Given the description of an element on the screen output the (x, y) to click on. 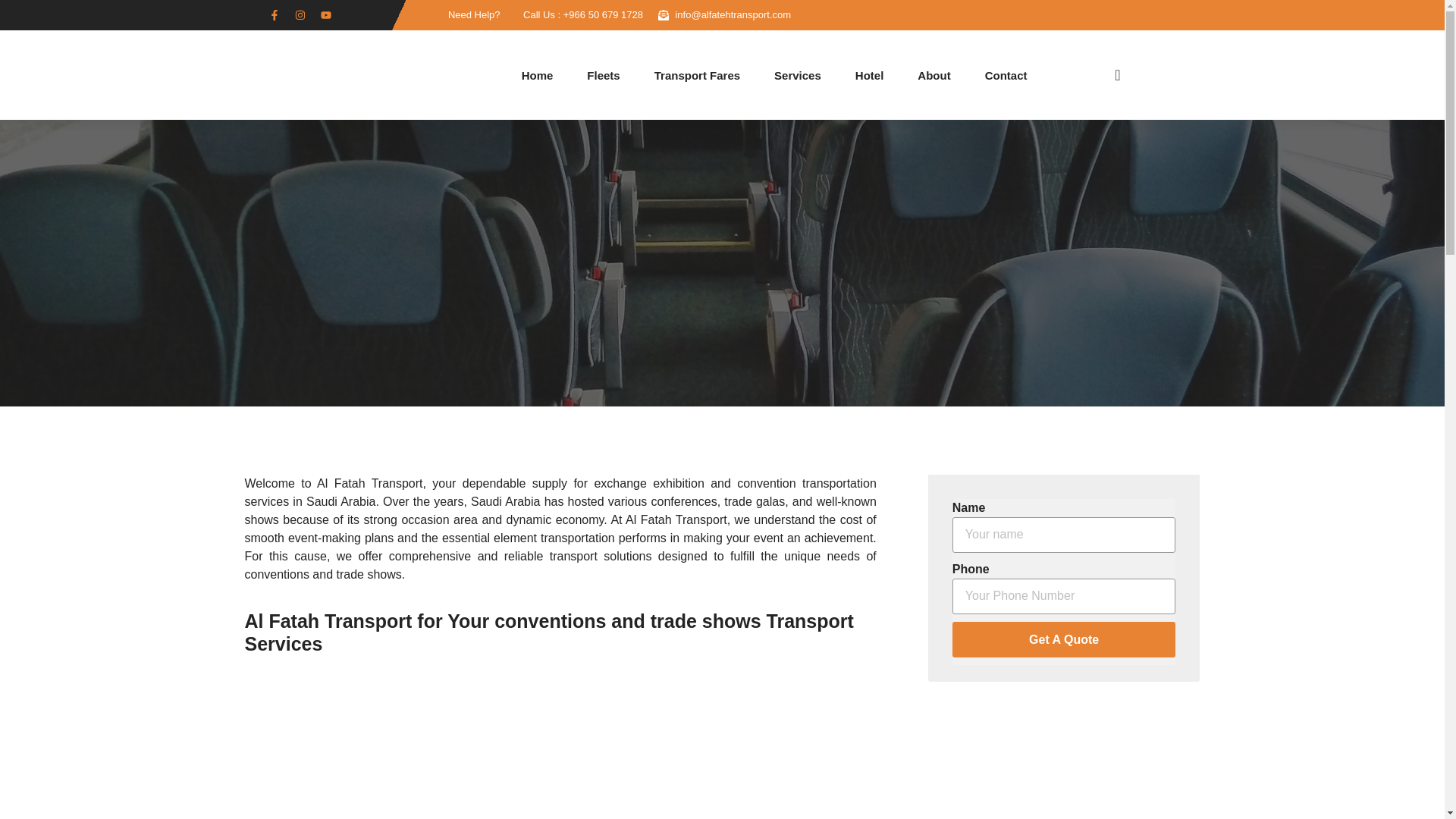
About (933, 74)
Hotel (869, 74)
Services (797, 74)
Transport Fares (696, 74)
Contact (1006, 74)
Home (537, 74)
Fleets (603, 74)
